Given the description of an element on the screen output the (x, y) to click on. 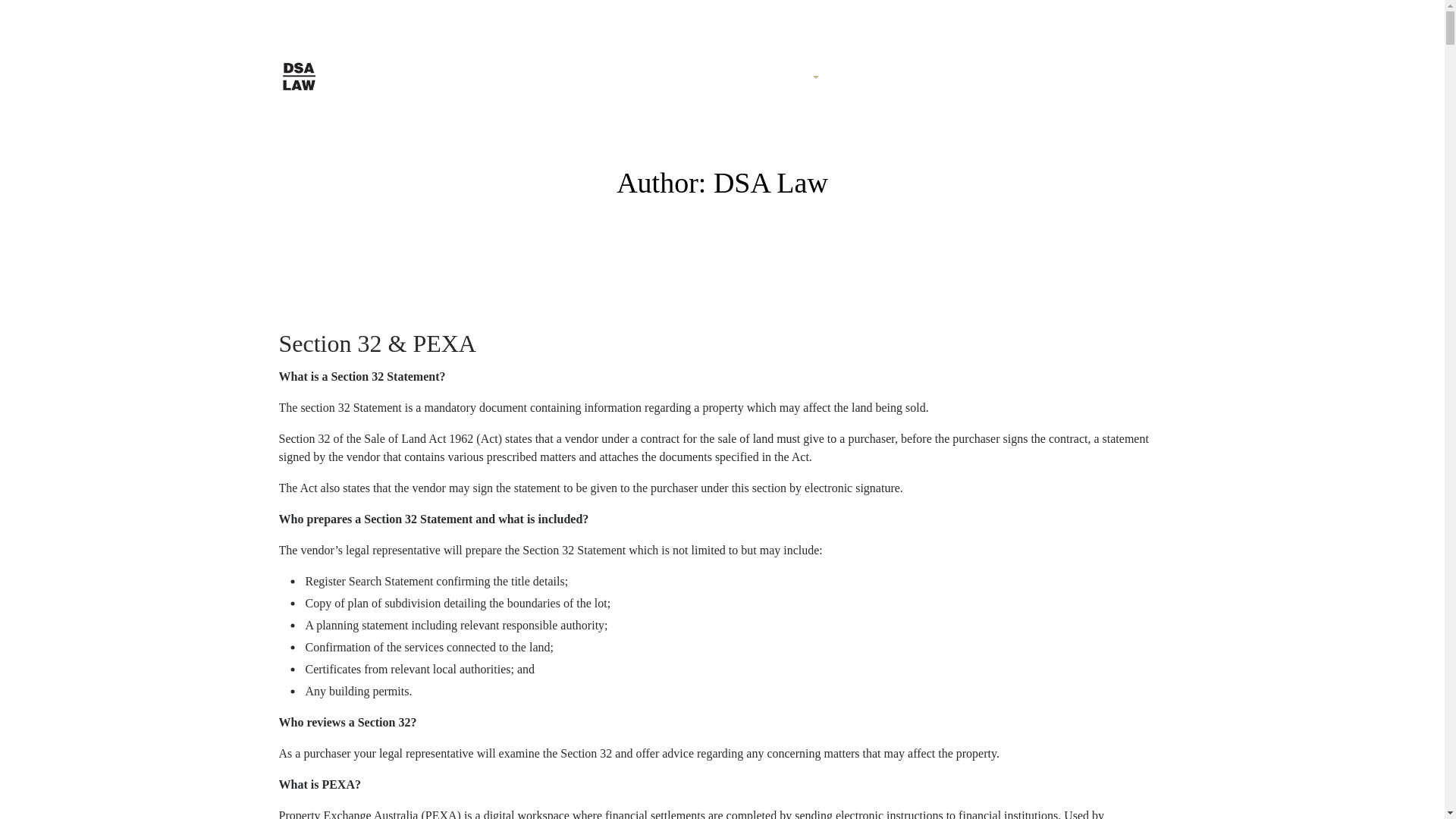
Our Team Element type: text (701, 76)
Insights Element type: text (868, 76)
  Element type: text (1093, 18)
About Element type: text (626, 76)
Home Element type: text (563, 76)
  Element type: text (1143, 18)
Section 32 & PEXA Element type: text (377, 343)
Contact Us Element type: text (951, 76)
  Element type: text (1118, 18)
Services Element type: text (788, 76)
(03) 8595 9580 Element type: text (1098, 73)
info@dsalaw.com.au Element type: text (585, 18)
